Given the description of an element on the screen output the (x, y) to click on. 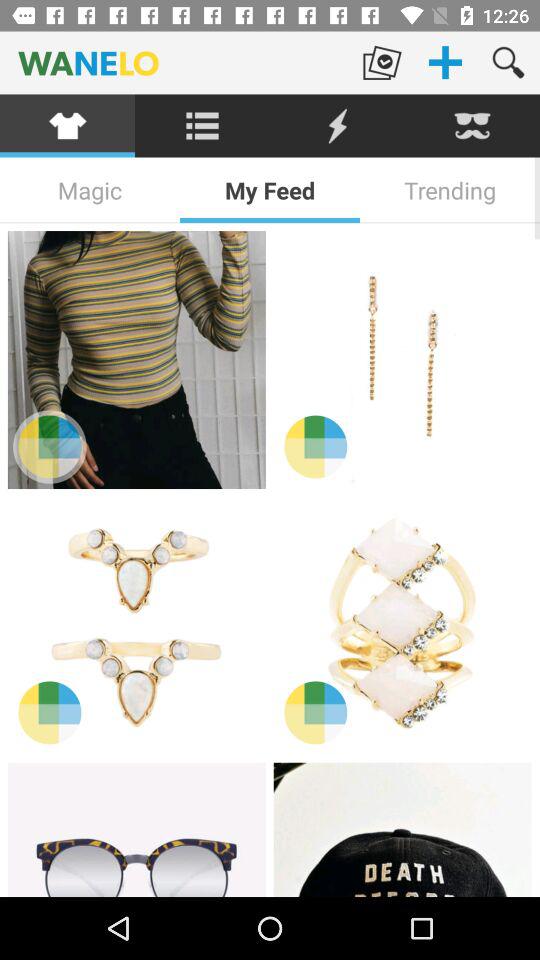
click the wanelo (175, 62)
